Given the description of an element on the screen output the (x, y) to click on. 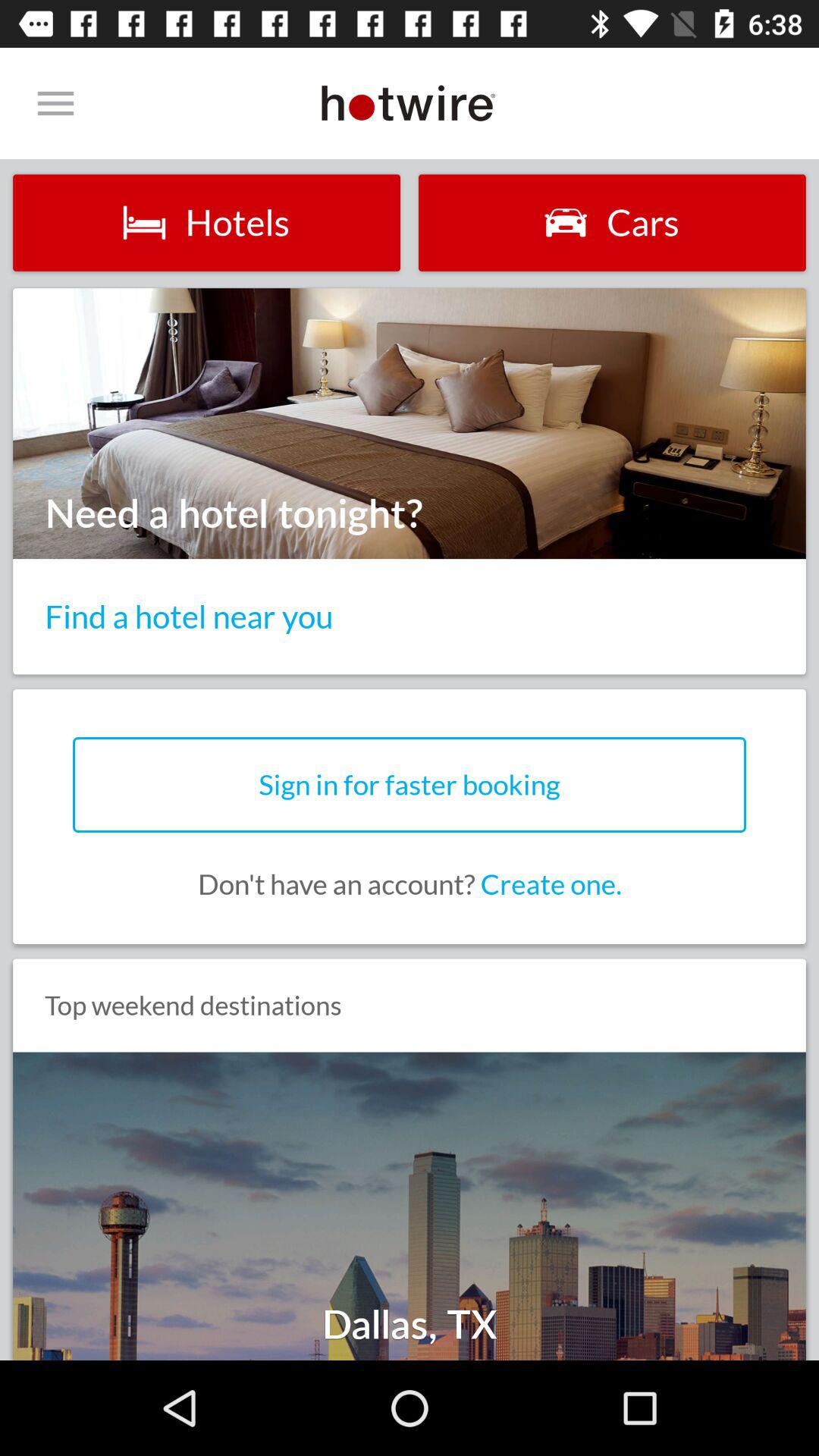
select icon above the don t have icon (409, 784)
